Given the description of an element on the screen output the (x, y) to click on. 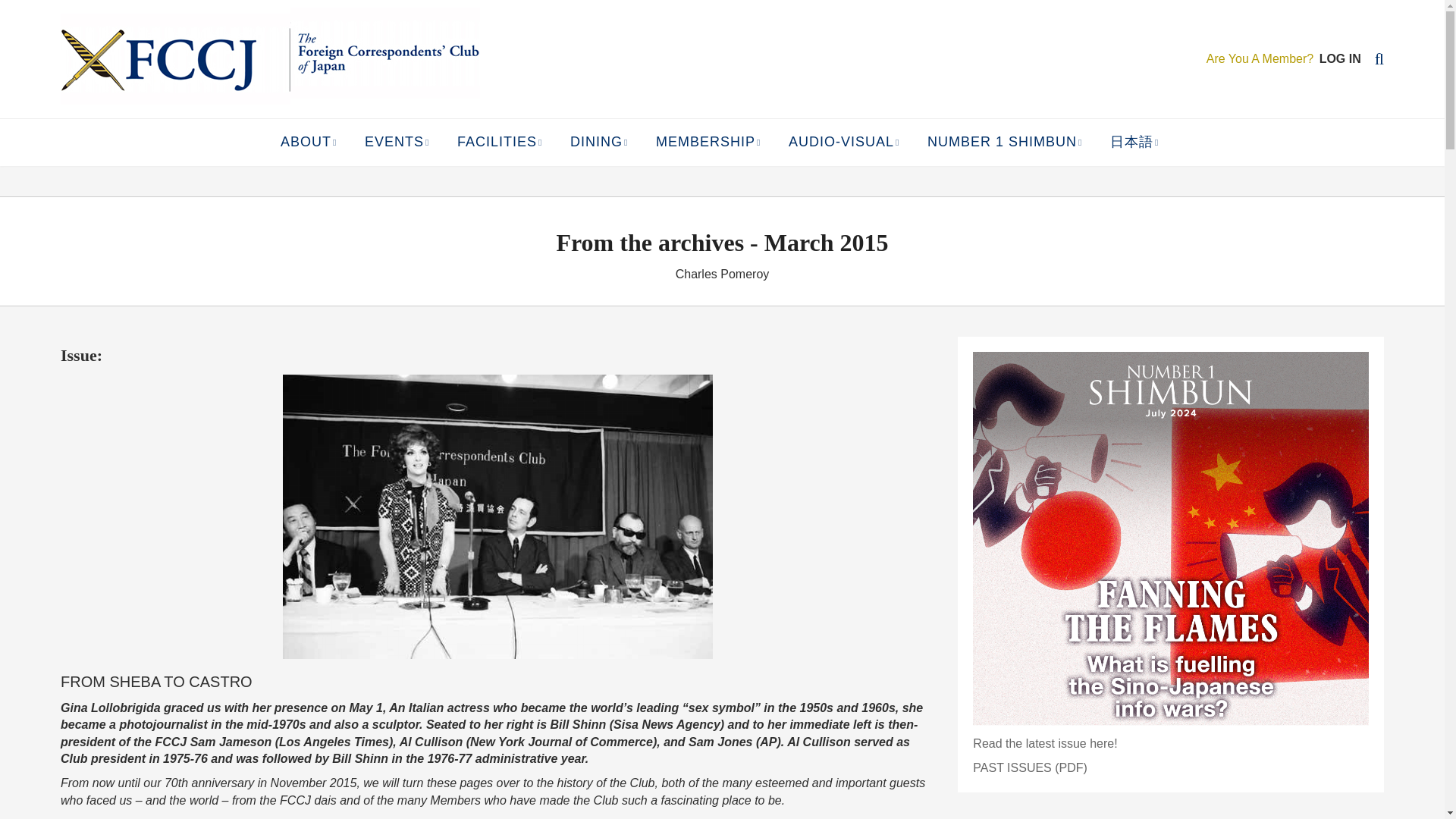
ABOUT FCCJ (344, 173)
Home (175, 58)
CALENDAR (429, 173)
Exhibitions, Audio Archive, Videos (846, 142)
RECEPTION (520, 173)
LOG IN (1340, 58)
